Given the description of an element on the screen output the (x, y) to click on. 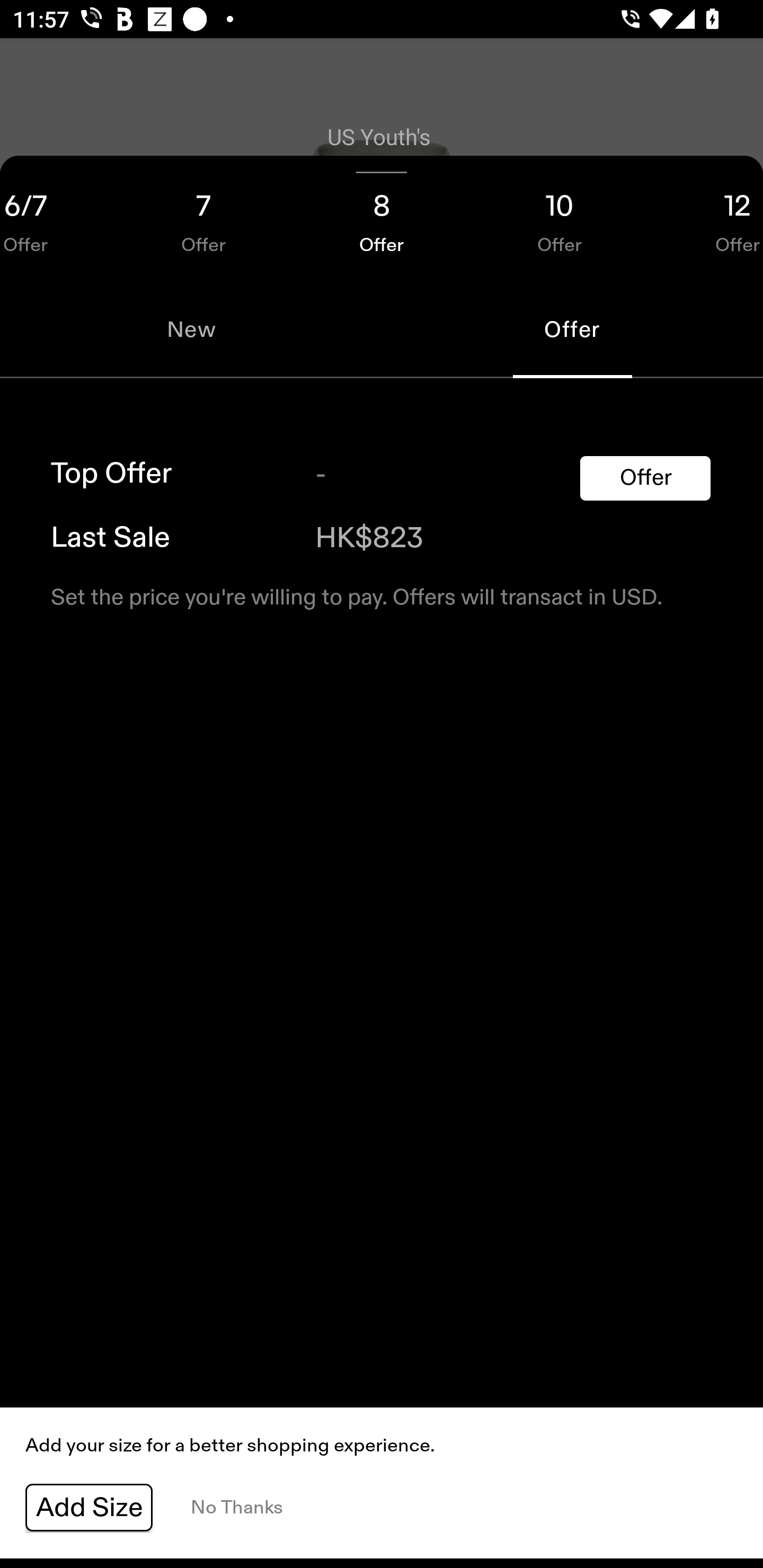
6/7 Offer (57, 218)
7 Offer (203, 218)
8 Offer (381, 218)
10 Offer (559, 218)
12 Offer (705, 218)
New (190, 329)
Offer (644, 477)
No Thanks (236, 1507)
Add Size (88, 1507)
